Given the description of an element on the screen output the (x, y) to click on. 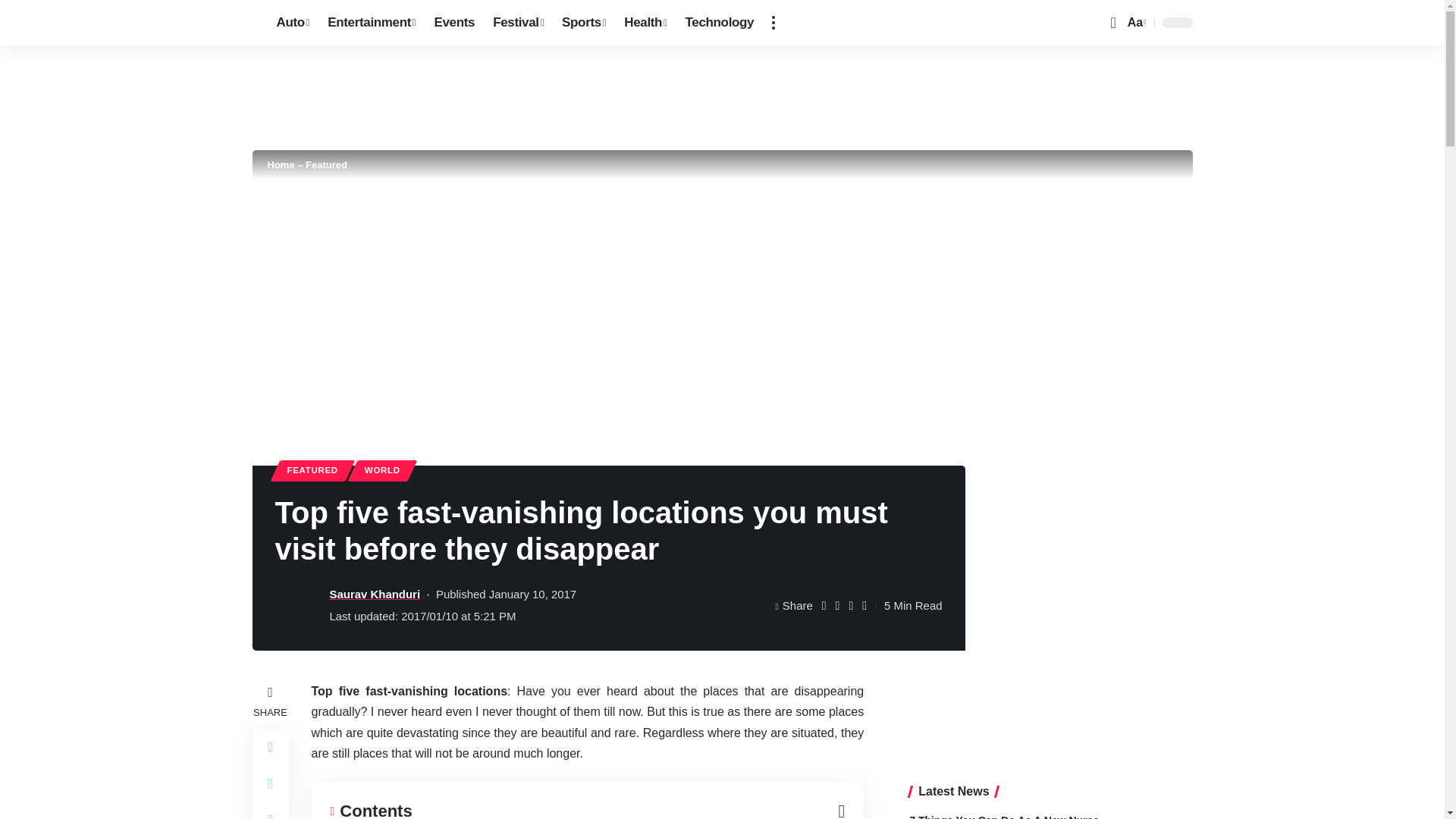
Festival (518, 22)
Sports (583, 22)
Entertainment (371, 22)
Home (280, 164)
Health (644, 22)
Featured (326, 164)
FEATURED (312, 470)
Events (454, 22)
Auto (292, 22)
Technology (719, 22)
WORLD (382, 470)
Aa (1135, 22)
